Given the description of an element on the screen output the (x, y) to click on. 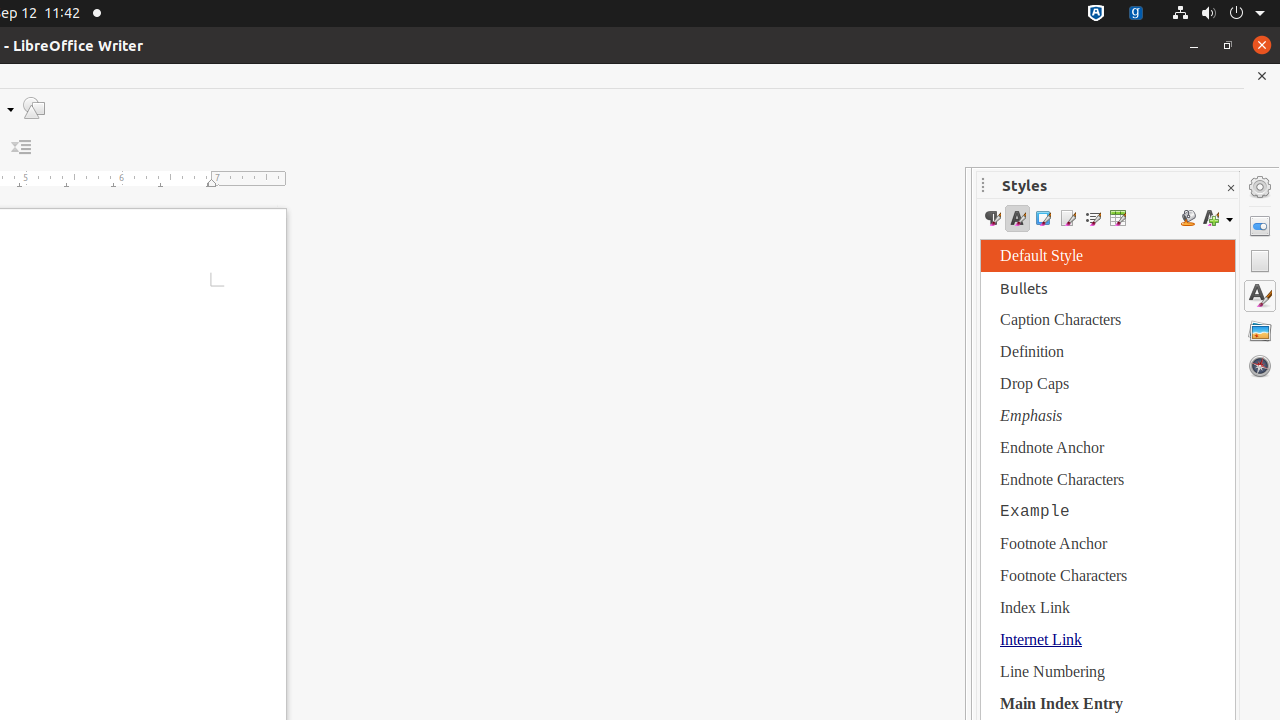
Fill Format Mode Element type: push-button (1187, 218)
Table Styles Element type: push-button (1117, 218)
Properties Element type: radio-button (1260, 226)
List Styles Element type: push-button (1092, 218)
Draw Functions Element type: push-button (33, 108)
